Given the description of an element on the screen output the (x, y) to click on. 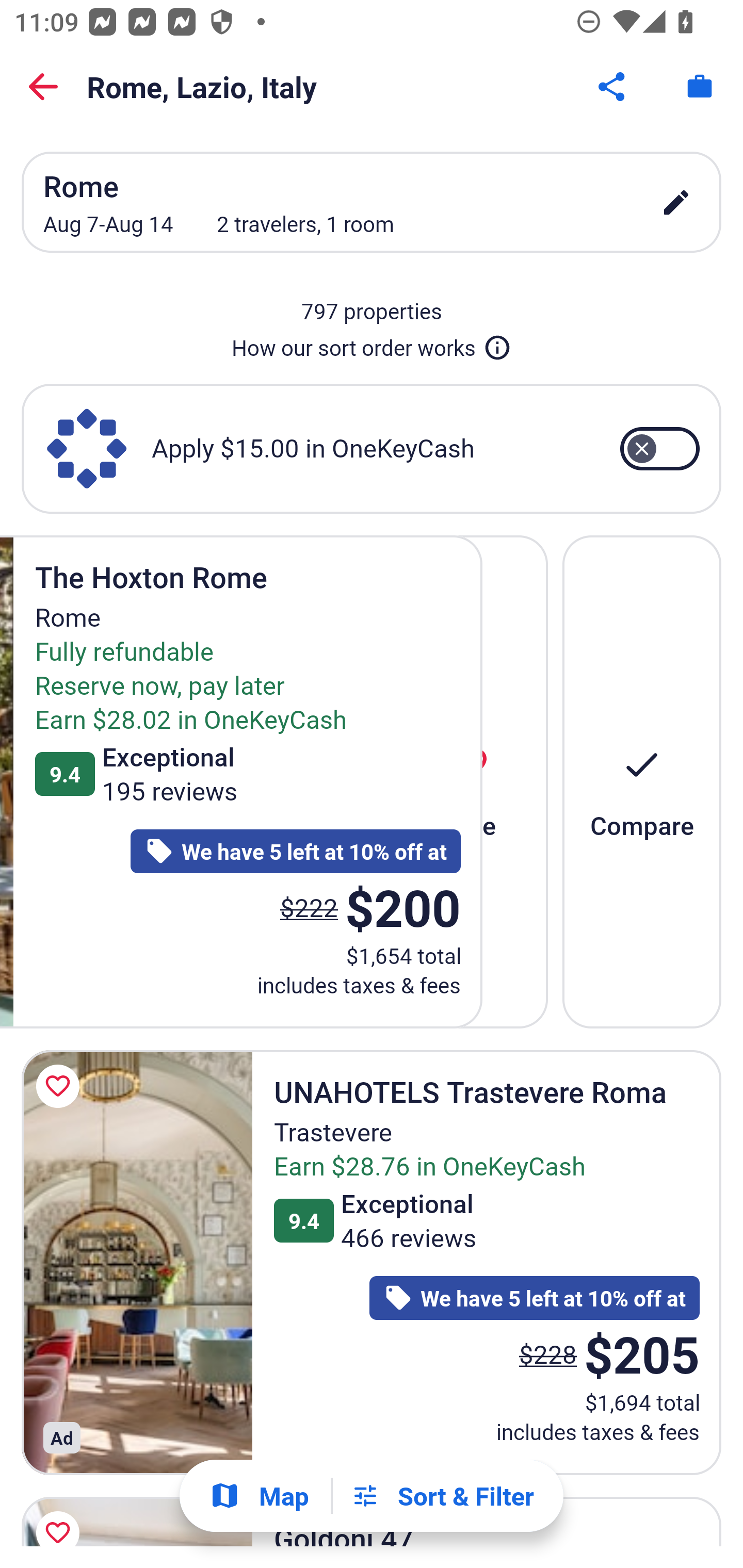
Back (43, 86)
Share Button (612, 86)
Trips. Button (699, 86)
Rome Aug 7-Aug 14 2 travelers, 1 room edit (371, 202)
How our sort order works (371, 344)
Compare (641, 781)
$222 The price was $222 (308, 906)
Save UNAHOTELS Trastevere Roma to a trip (61, 1085)
UNAHOTELS Trastevere Roma (136, 1262)
$228 The price was $228 (547, 1353)
Filters Sort & Filter Filters Button (442, 1495)
Show map Map Show map Button (258, 1495)
Save Goldoni 47 to a trip (61, 1517)
